Given the description of an element on the screen output the (x, y) to click on. 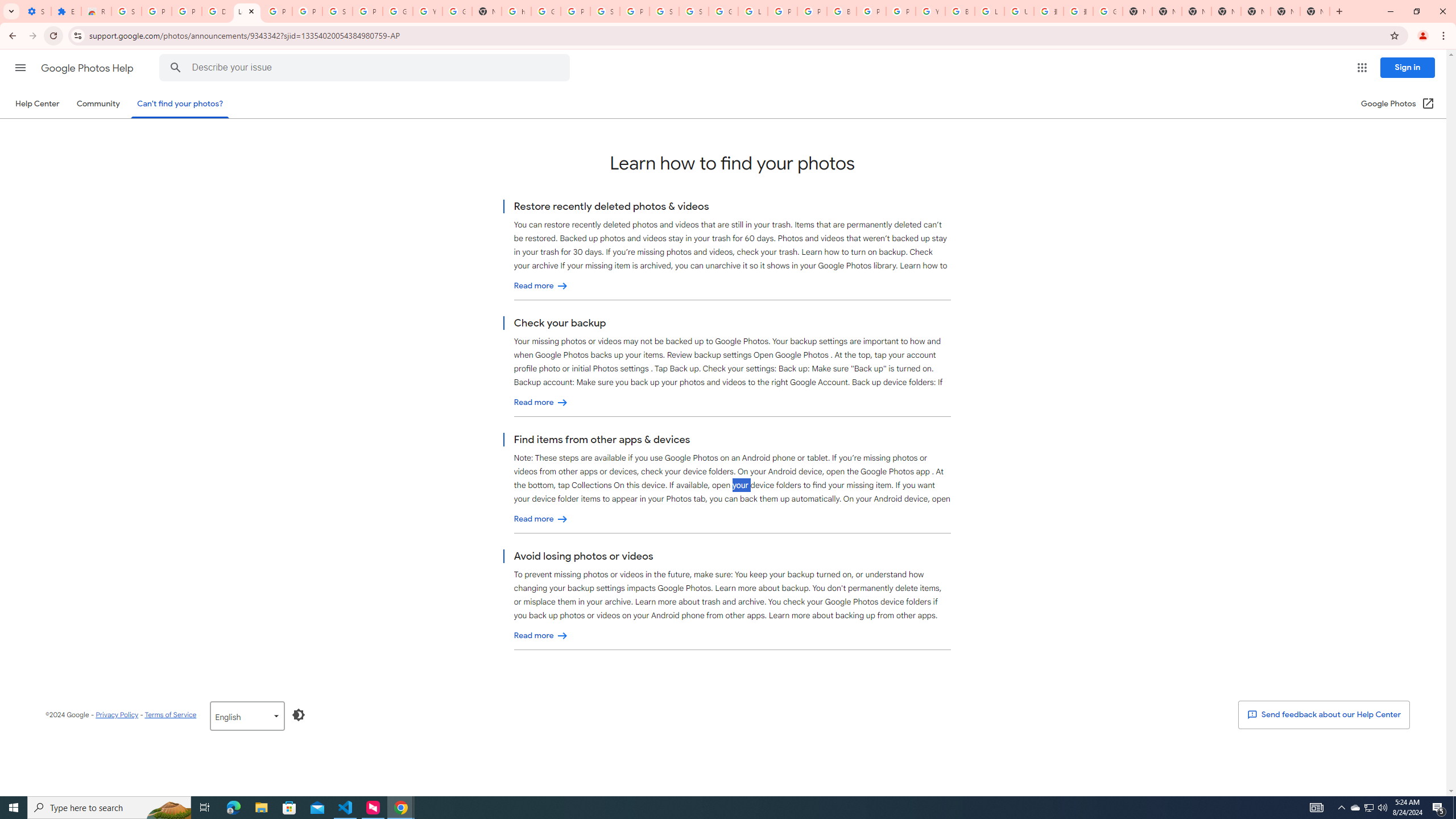
Main menu (20, 67)
Search Help Center (176, 67)
 Send feedback about our Help Center (1323, 714)
YouTube (930, 11)
Privacy Help Center - Policies Help (811, 11)
Avoid losing photos or videos (541, 635)
